Given the description of an element on the screen output the (x, y) to click on. 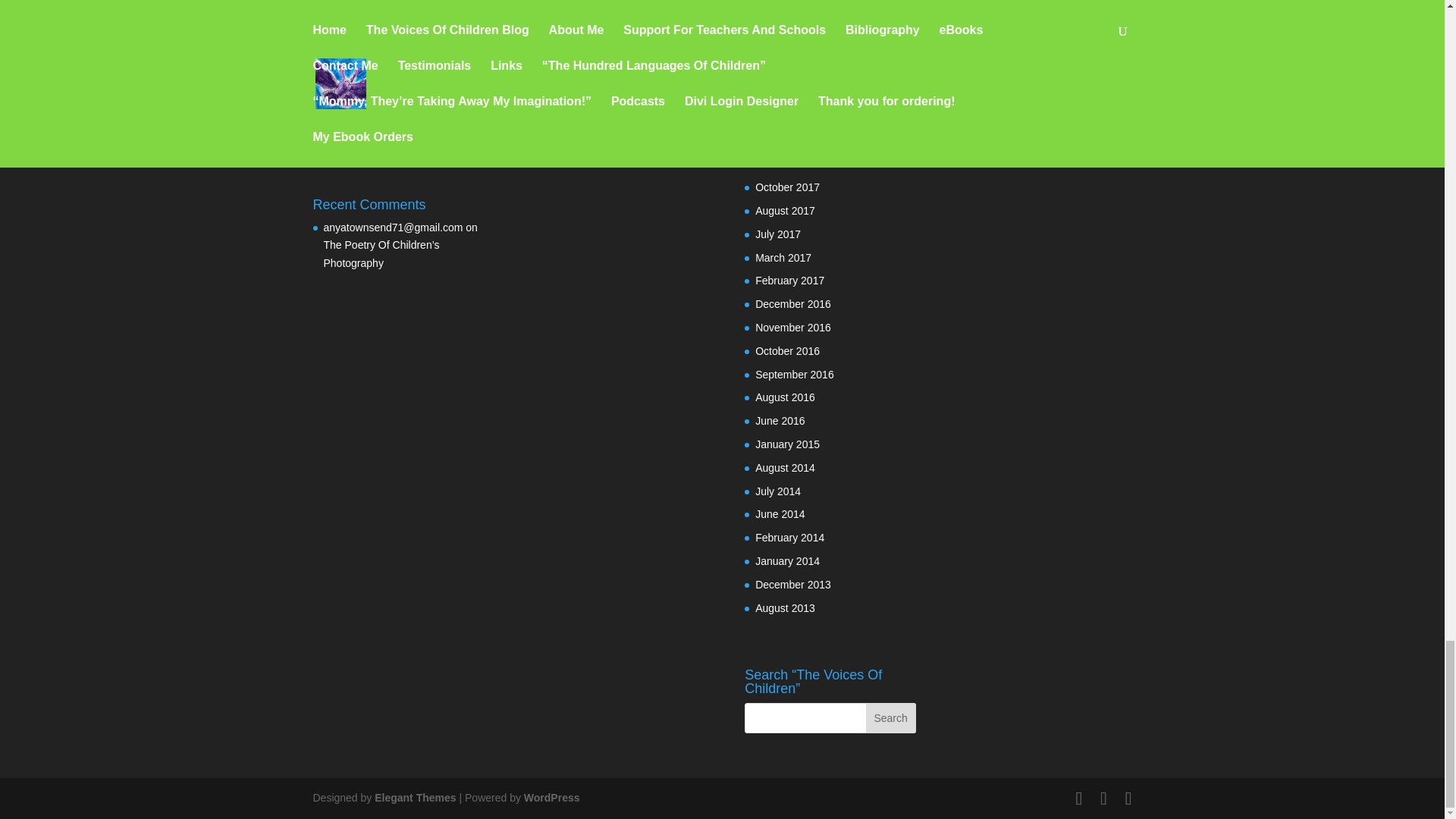
Search (890, 717)
Premium WordPress Themes (414, 797)
